Given the description of an element on the screen output the (x, y) to click on. 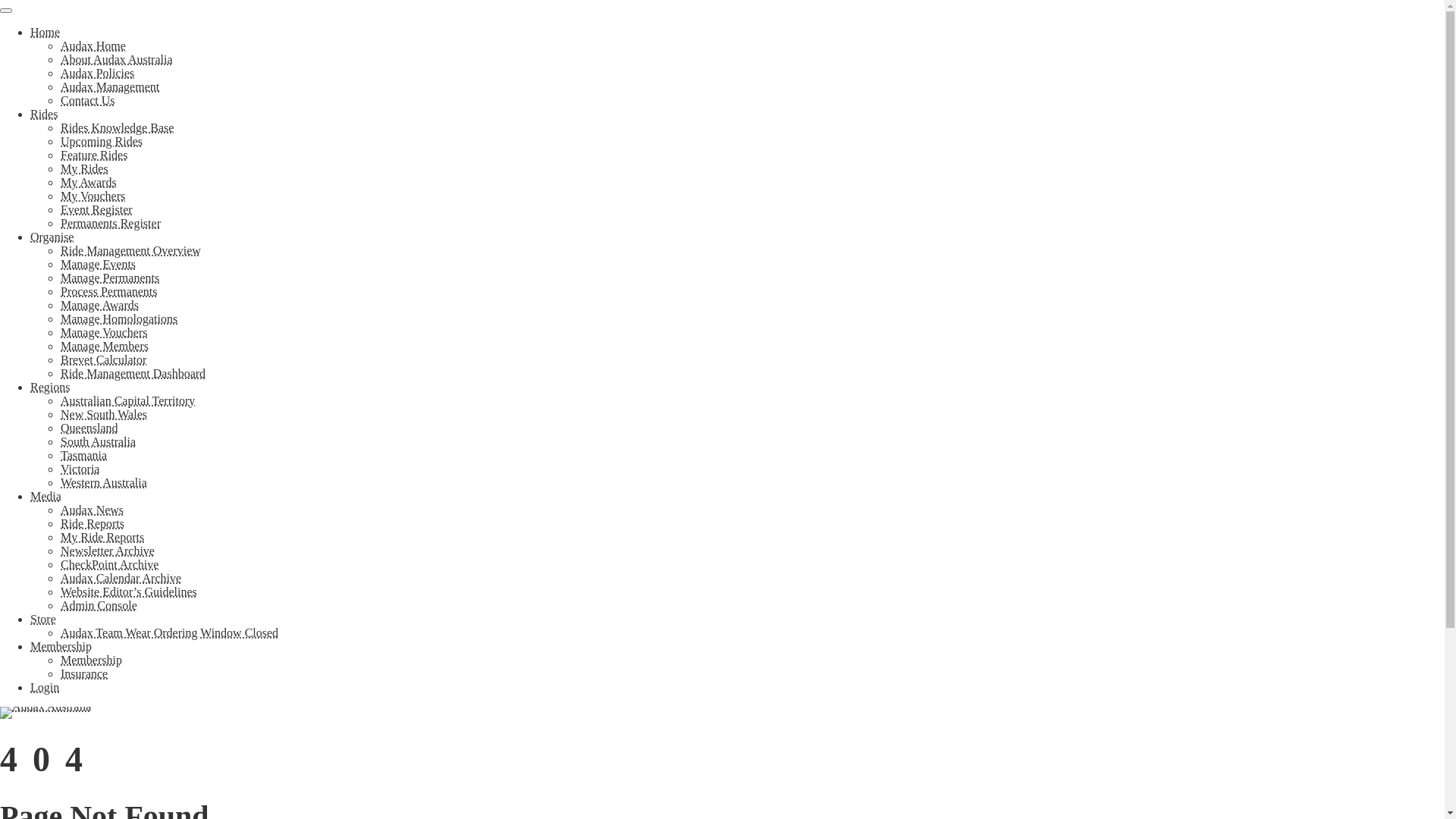
Ride Reports Element type: text (92, 523)
Manage Vouchers Element type: text (103, 332)
Australian Capital Territory Element type: text (127, 400)
Regions Element type: text (49, 386)
Membership Element type: text (91, 659)
Upcoming Rides Element type: text (101, 140)
Permanents Register Element type: text (110, 222)
Audax Policies Element type: text (97, 72)
Manage Awards Element type: text (99, 304)
Home Element type: text (44, 31)
Media Element type: text (45, 495)
My Rides Element type: text (84, 168)
Ride Management Dashboard Element type: text (132, 373)
New South Wales Element type: text (103, 413)
Queensland Element type: text (89, 427)
My Ride Reports Element type: text (102, 536)
Admin Console Element type: text (98, 605)
Audax News Element type: text (91, 509)
Manage Members Element type: text (104, 345)
Audax Home Element type: text (92, 45)
Feature Rides Element type: text (93, 154)
Membership Element type: text (60, 646)
Insurance Element type: text (83, 673)
My Vouchers Element type: text (92, 195)
About Audax Australia Element type: text (116, 59)
My Awards Element type: text (88, 181)
Rides Knowledge Base Element type: text (116, 127)
Western Australia Element type: text (103, 482)
Store Element type: text (43, 618)
Manage Permanents Element type: text (109, 277)
Manage Events Element type: text (97, 263)
Organise Element type: text (51, 236)
Event Register Element type: text (96, 209)
Newsletter Archive Element type: text (107, 550)
Rides Element type: text (43, 113)
Audax Team Wear Ordering Window Closed Element type: text (169, 632)
Login Element type: text (44, 686)
Victoria Element type: text (79, 468)
Audax Calendar Archive Element type: text (120, 577)
Ride Management Overview Element type: text (130, 250)
CheckPoint Archive Element type: text (109, 564)
Manage Homologations Element type: text (118, 318)
Tasmania Element type: text (83, 454)
Audax Management Element type: text (109, 86)
Brevet Calculator Element type: text (103, 359)
South Australia Element type: text (97, 441)
Process Permanents Element type: text (108, 291)
Contact Us Element type: text (87, 100)
